Given the description of an element on the screen output the (x, y) to click on. 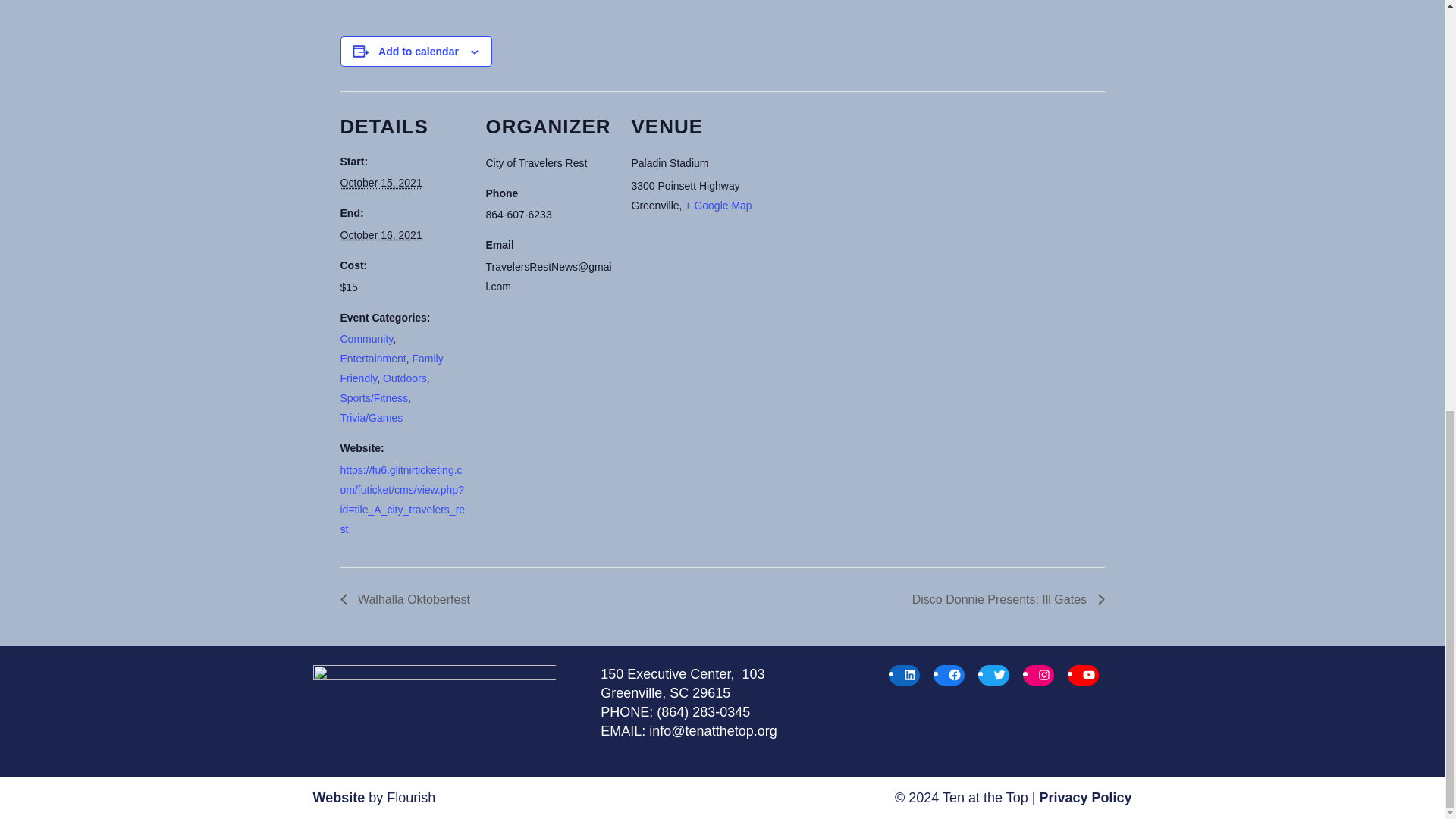
Google maps iframe displaying the address to Paladin Stadium (856, 195)
2021-10-16 (380, 234)
Click to view a Google Map (717, 205)
2021-10-15 (380, 182)
